Given the description of an element on the screen output the (x, y) to click on. 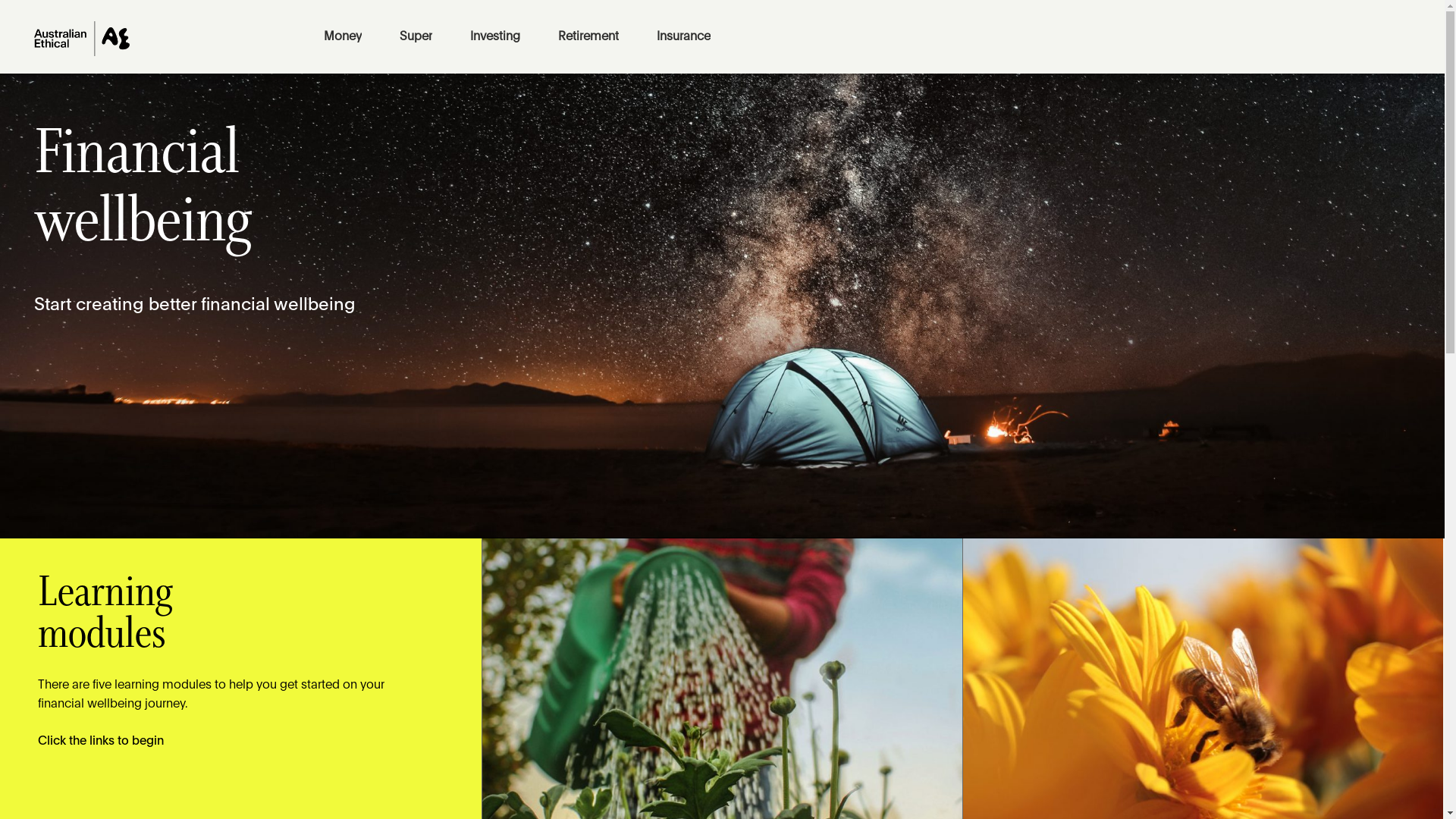
Super Element type: text (415, 36)
Investing Element type: text (495, 36)
Money Element type: text (342, 36)
Insurance Element type: text (683, 36)
Retirement Element type: text (588, 36)
